Given the description of an element on the screen output the (x, y) to click on. 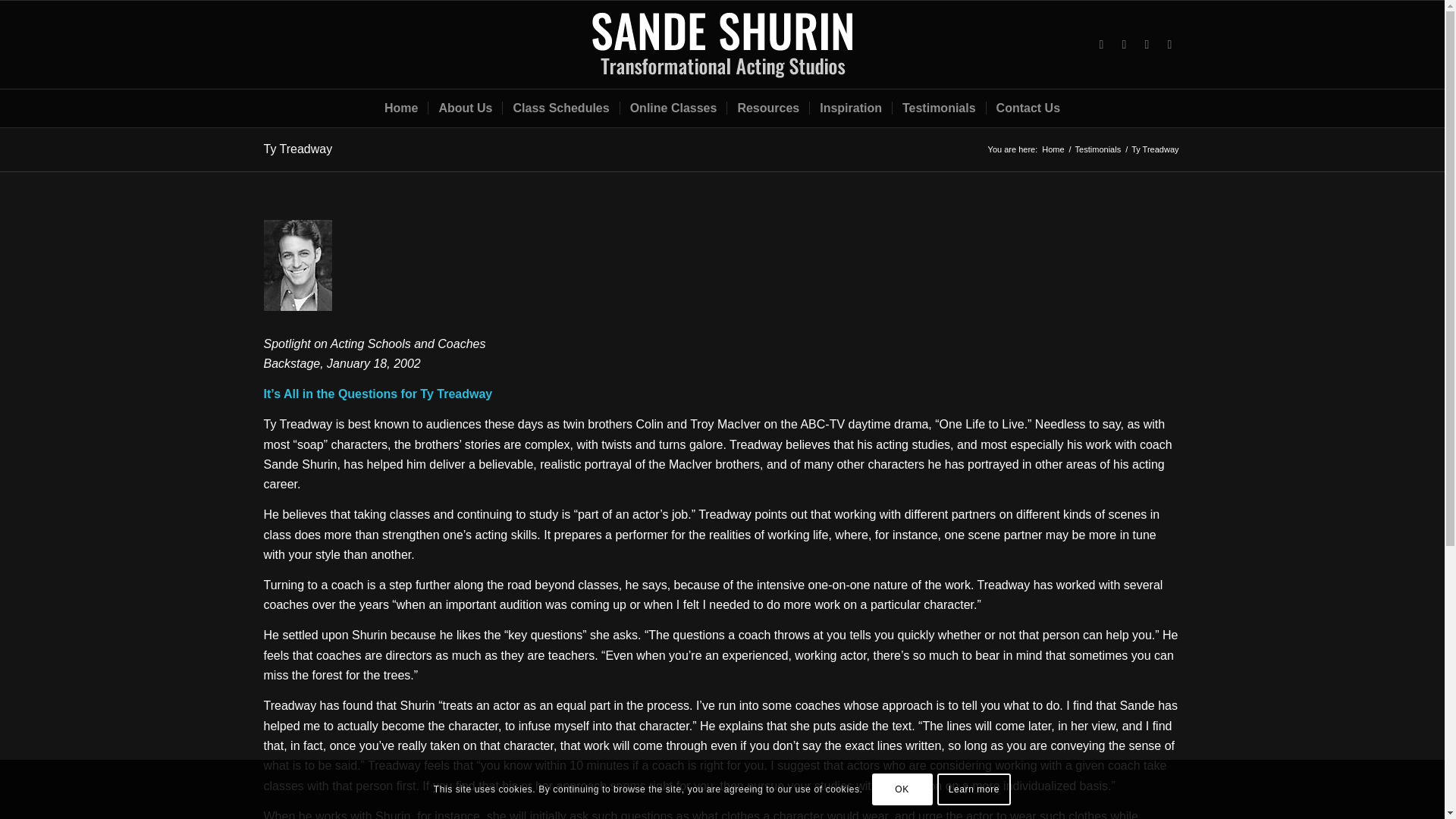
Class Schedules (560, 108)
Facebook (1146, 44)
Inspiration (850, 108)
LinkedIn (1124, 44)
Resources (767, 108)
Sande Shurin Acting Studios (1052, 149)
Home (401, 108)
Ty Treadway (298, 148)
About Us (465, 108)
Contact Us (1027, 108)
OK (902, 789)
SANDETEMPLOGO (721, 43)
Twitter (1101, 44)
Youtube (1169, 44)
Testimonials (1098, 149)
